Given the description of an element on the screen output the (x, y) to click on. 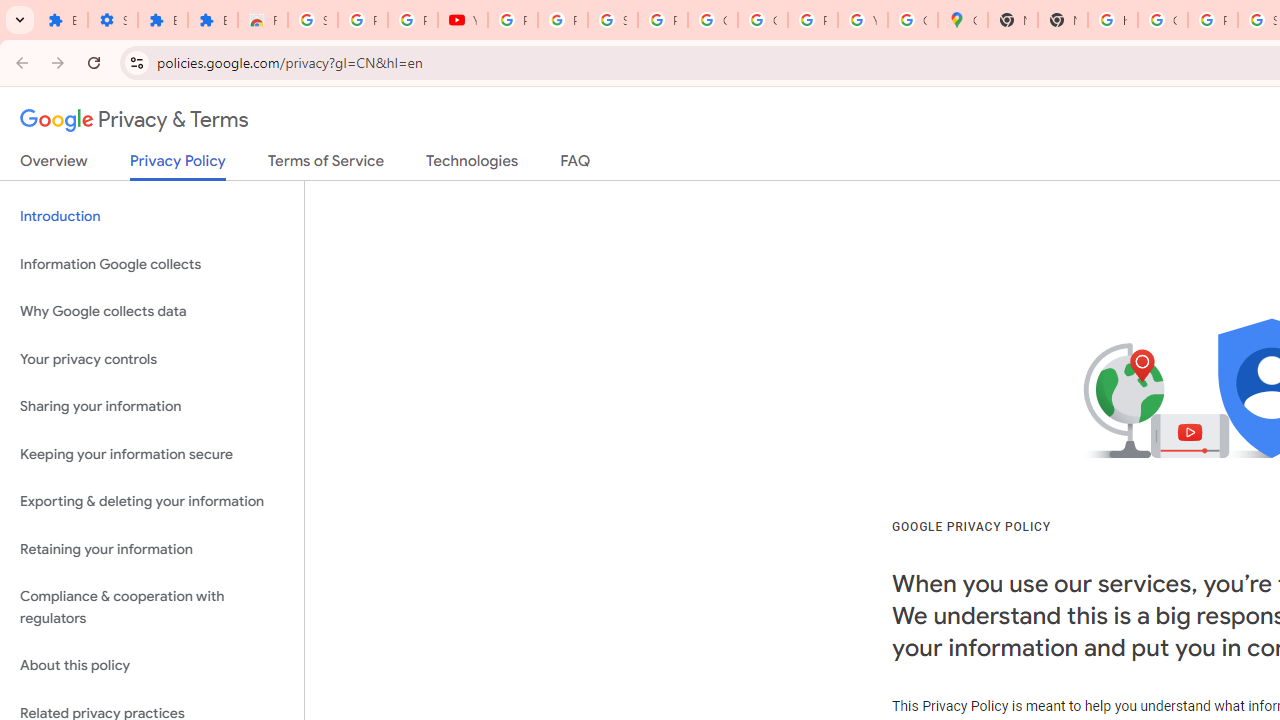
YouTube (863, 20)
Google Account (712, 20)
New Tab (1062, 20)
YouTube (462, 20)
